Given the description of an element on the screen output the (x, y) to click on. 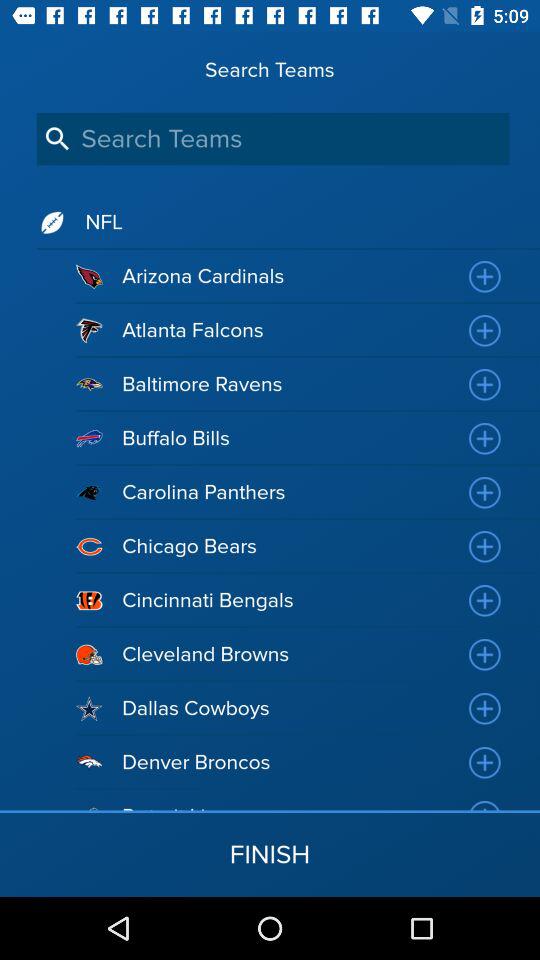
open finish item (270, 854)
